Given the description of an element on the screen output the (x, y) to click on. 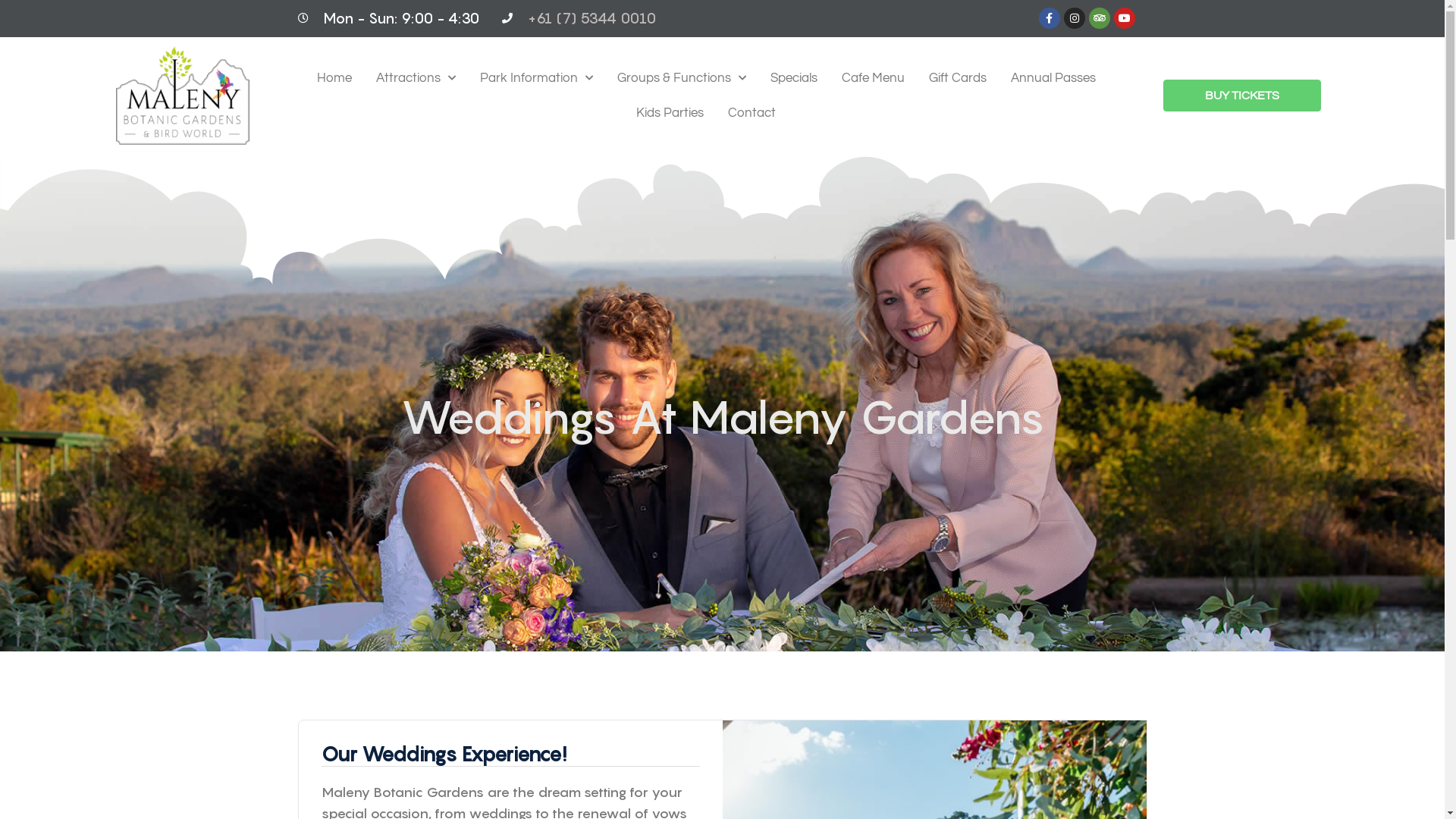
BUY TICKETS Element type: text (1242, 95)
maleny_botanic_gardens_foot Element type: hover (181, 95)
Youtube Element type: text (1123, 17)
Instagram Element type: text (1073, 17)
Groups & Functions Element type: text (681, 77)
Kids Parties Element type: text (669, 112)
Gift Cards Element type: text (957, 77)
Contact Element type: text (751, 112)
Home Element type: text (334, 77)
Annual Passes Element type: text (1052, 77)
Park Information Element type: text (536, 77)
Cafe Menu Element type: text (872, 77)
+61 (7) 5344 0010 Element type: text (591, 17)
Facebook Element type: text (1049, 17)
Attractions Element type: text (415, 77)
Tripadvisor Element type: text (1099, 17)
Specials Element type: text (793, 77)
